Given the description of an element on the screen output the (x, y) to click on. 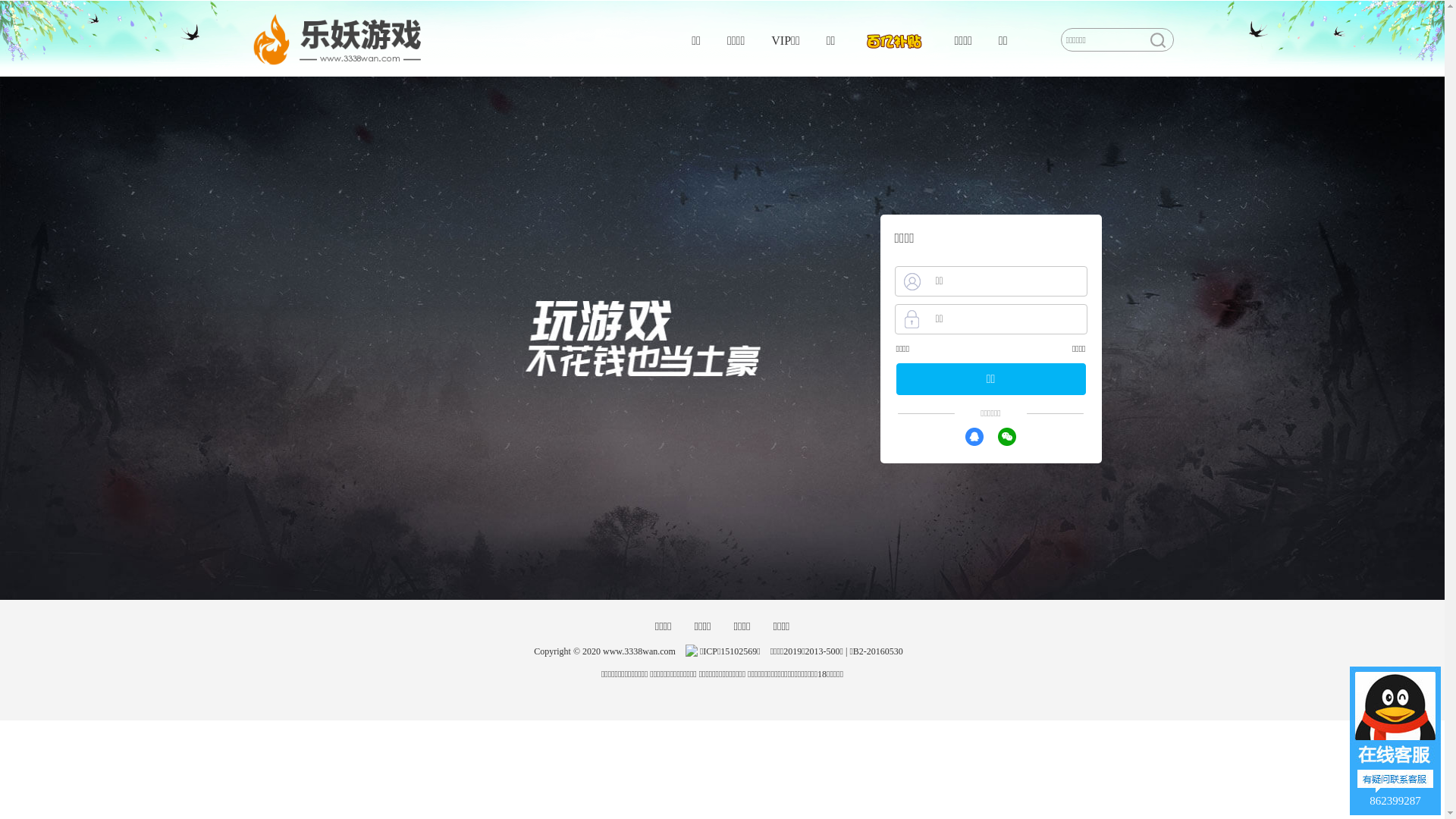
862399287 Element type: text (1394, 740)
Search Element type: hover (1156, 39)
